Given the description of an element on the screen output the (x, y) to click on. 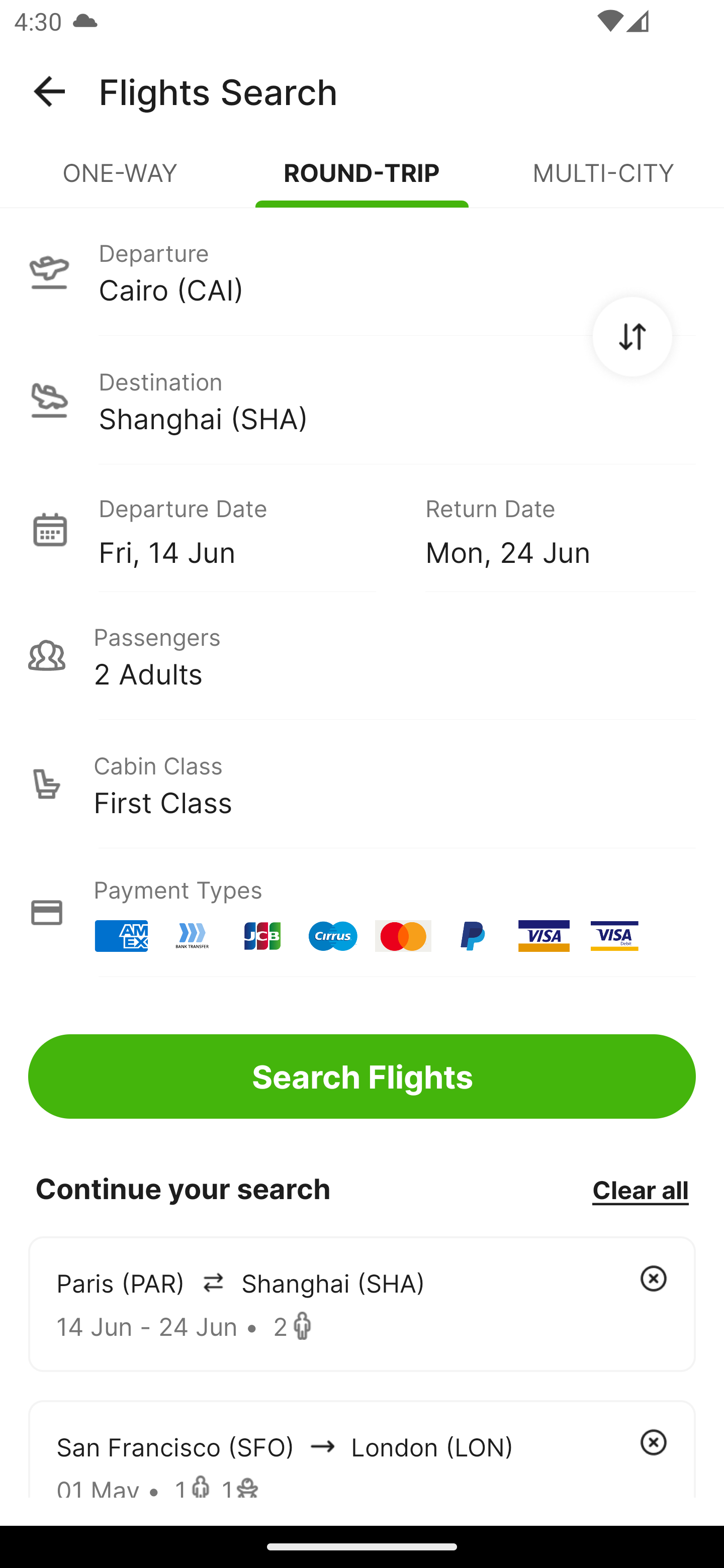
ONE-WAY (120, 180)
ROUND-TRIP (361, 180)
MULTI-CITY (603, 180)
Departure Cairo (CAI) (362, 270)
Destination Shanghai (SHA) (362, 400)
Departure Date Fri, 14 Jun (247, 528)
Return Date Mon, 24 Jun (546, 528)
Passengers 2 Adults (362, 655)
Cabin Class First Class (362, 783)
Payment Types (362, 912)
Search Flights (361, 1075)
Clear all (640, 1189)
